Given the description of an element on the screen output the (x, y) to click on. 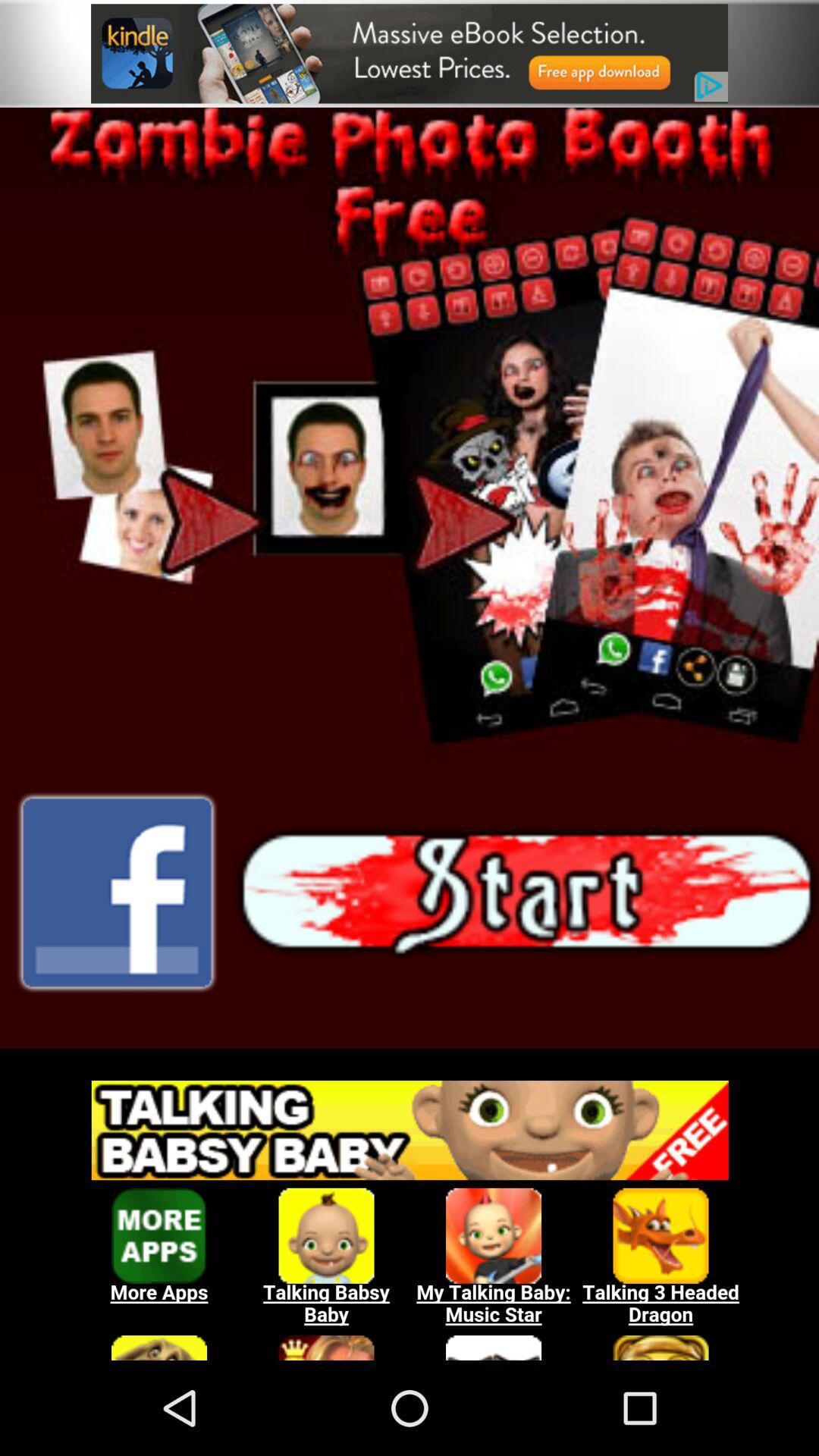
share on facebook (117, 892)
